Given the description of an element on the screen output the (x, y) to click on. 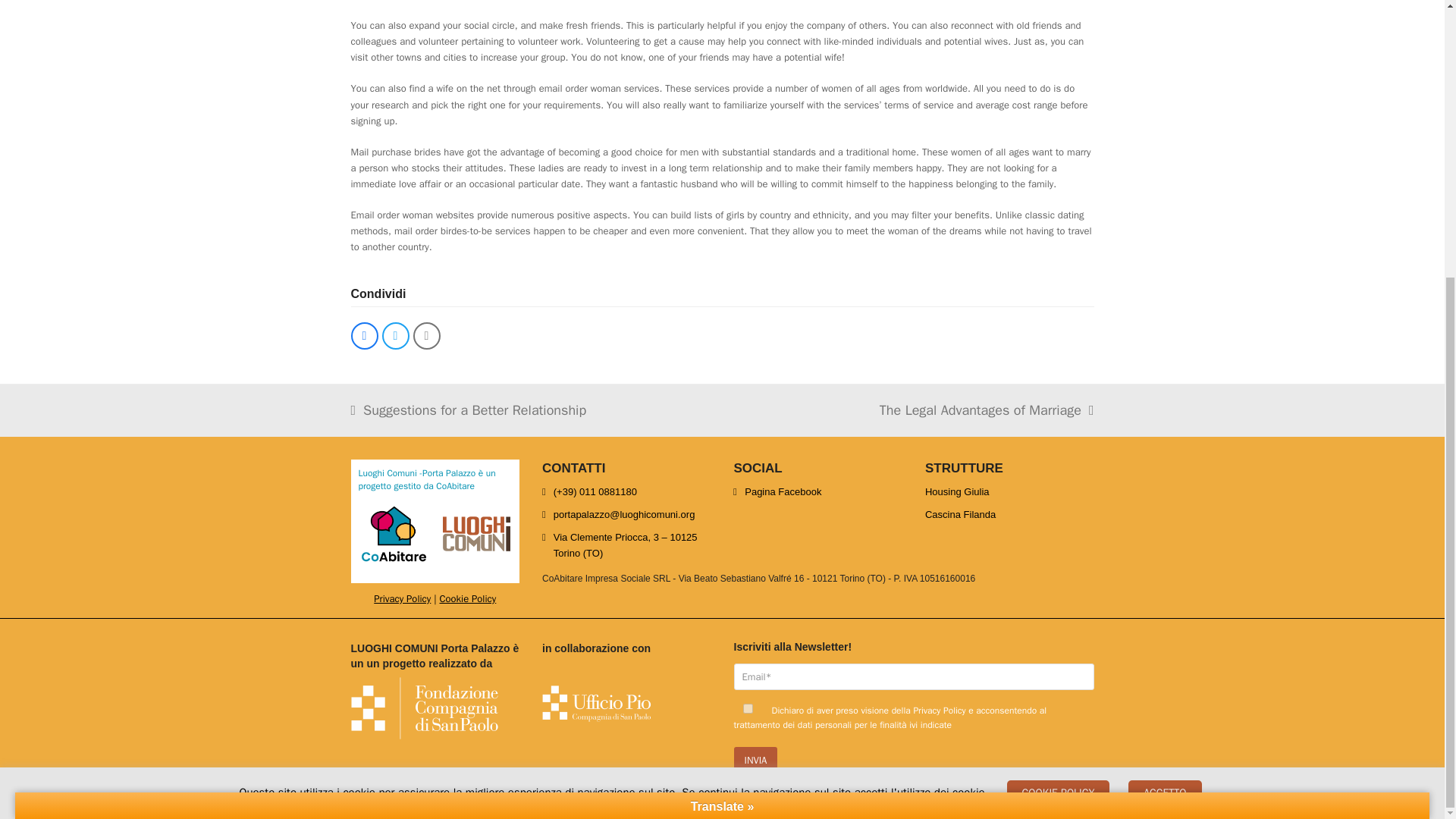
Condividi su Twitter (395, 334)
Share via Email (425, 334)
Condividi su Facebook (986, 409)
1 (363, 334)
Cookie Policy (747, 708)
Pagina Facebook (467, 598)
INVIA (468, 409)
Privacy Policy (777, 491)
